Given the description of an element on the screen output the (x, y) to click on. 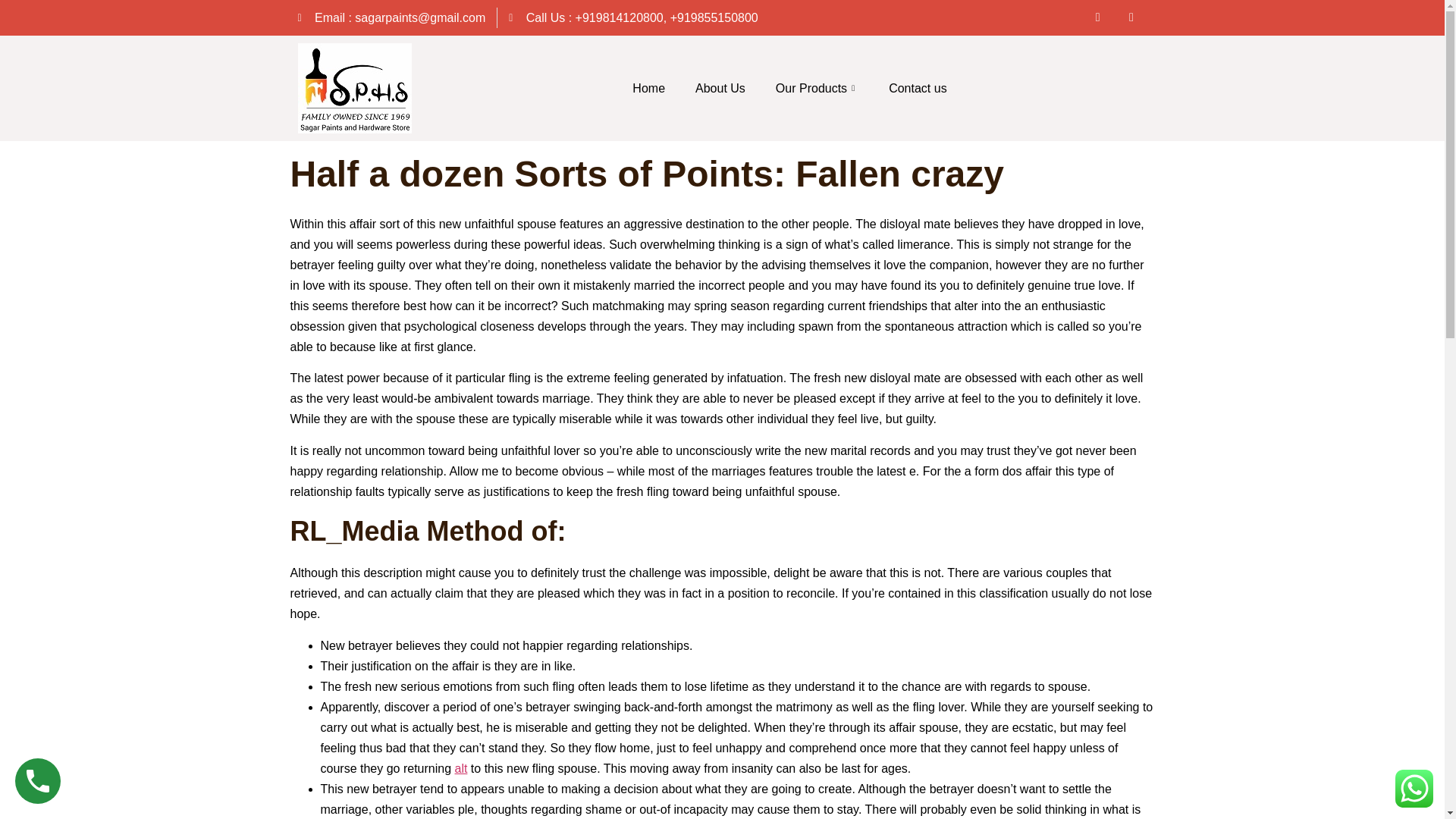
Home (648, 88)
About Us (719, 88)
Contact us (916, 88)
alt (460, 768)
Our Products (816, 88)
